Given the description of an element on the screen output the (x, y) to click on. 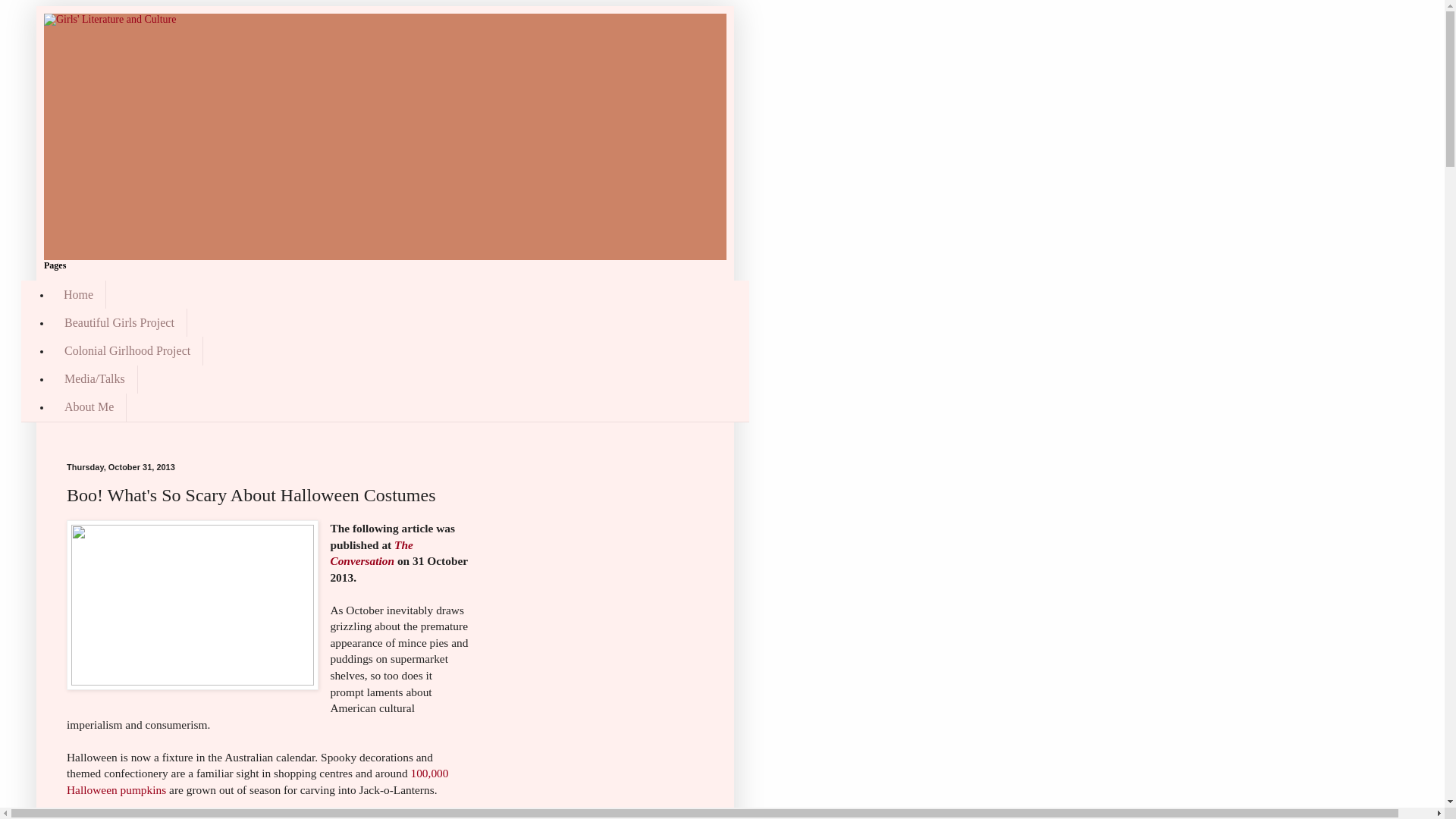
The Conversation  Element type: text (370, 552)
100,000 Halloween pumpkins Element type: text (257, 781)
Beautiful Girls Project Element type: text (119, 322)
Home Element type: text (78, 294)
Media/Talks Element type: text (94, 379)
Colonial Girlhood Project Element type: text (127, 350)
About Me Element type: text (88, 407)
